Given the description of an element on the screen output the (x, y) to click on. 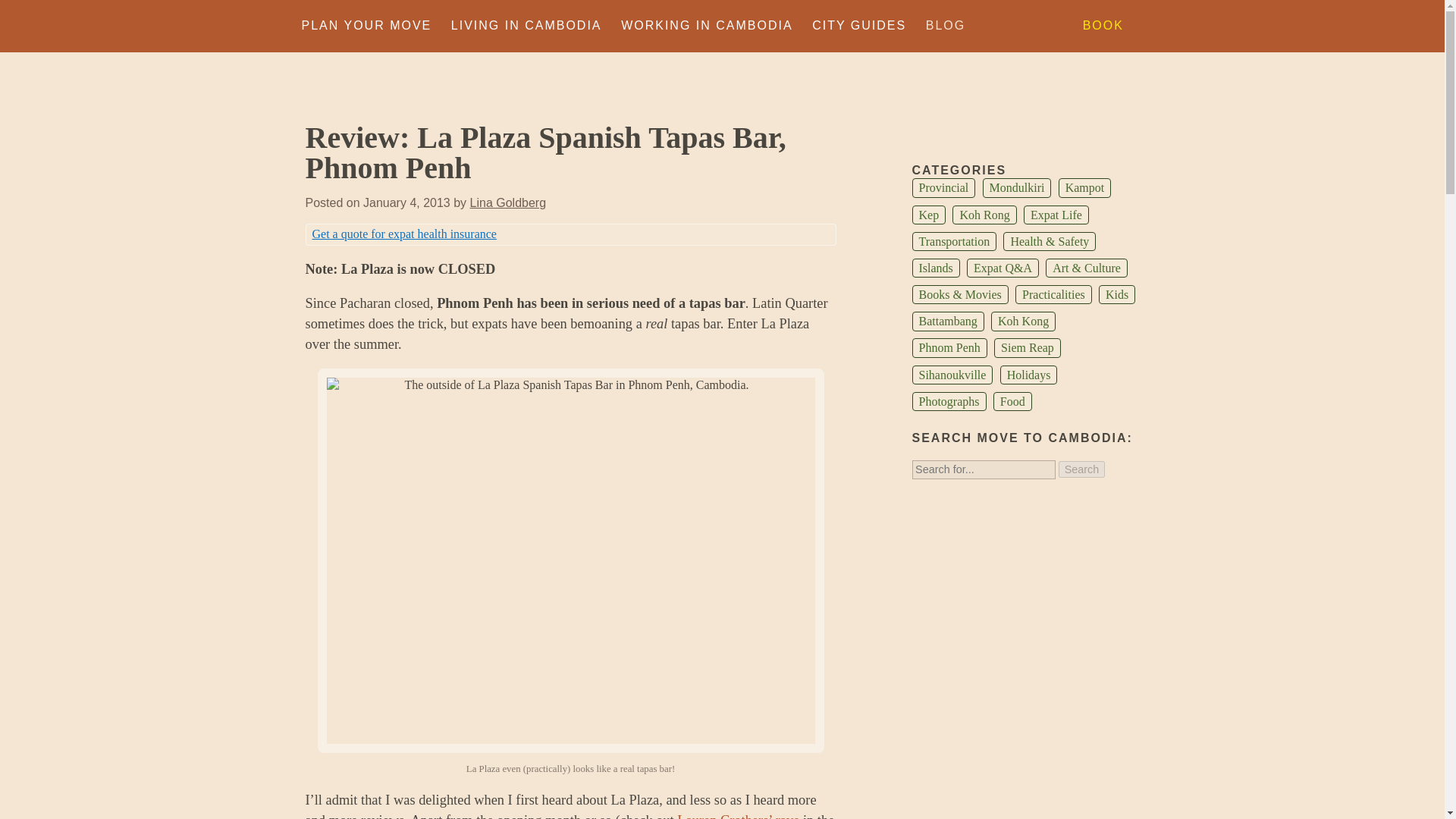
Kampot (1085, 187)
BOOK (1103, 26)
CITY GUIDES (858, 26)
Get a quote for expat health insurance (404, 233)
Kids (1117, 294)
Islands (935, 267)
Kep (927, 214)
Transportation (953, 240)
Lina Goldberg (508, 202)
Provincial (943, 187)
WORKING IN CAMBODIA (706, 26)
PLAN YOUR MOVE (366, 26)
Practicalities (1053, 294)
BLOG (945, 26)
